Given the description of an element on the screen output the (x, y) to click on. 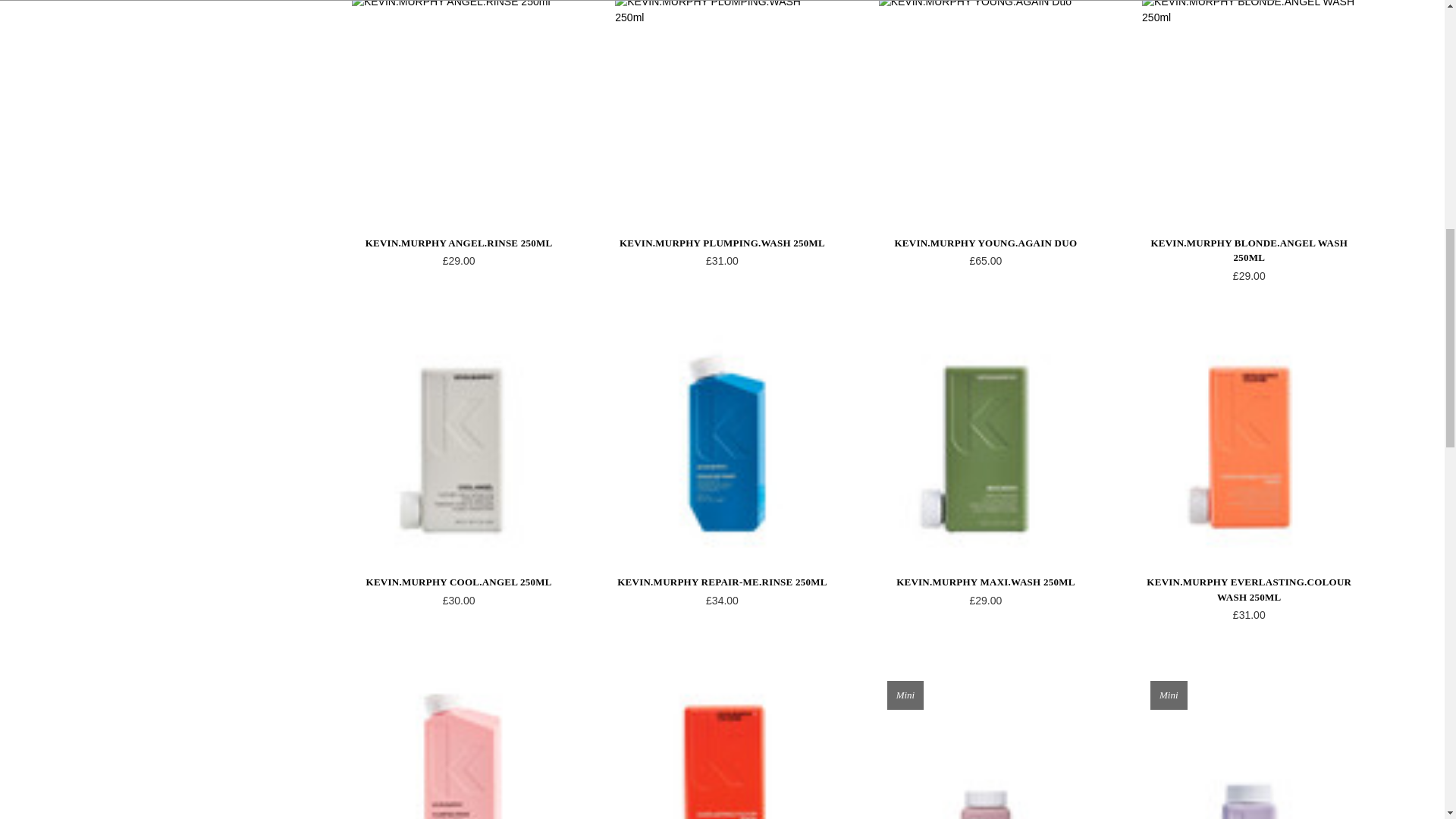
 KEVIN.MURPHY MAXI.WASH 250ml  (986, 440)
 KEVIN.MURPHY PLUMPING.WASH 250ml  (721, 104)
 KEVIN.MURPHY BLONDE.ANGEL WASH 250ml  (1248, 104)
 KEVIN.MURPHY BLONDE.ANGEL WASH 40ml  (1248, 745)
 KEVIN.MURPHY COOL.ANGEL 250ml  (459, 440)
 KEVIN.MURPHY EVERLASTING.COLOUR RINSE 250ml  (721, 745)
 KEVIN.MURPHY PLUMPING.RINSE 250ml  (459, 745)
 KEVIN.MURPHY EVERLASTING.COLOUR WASH 250ml  (1248, 440)
 KEVIN.MURPHY ANGEL.RINSE 40ml  (986, 745)
 KEVIN.MURPHY ANGEL.RINSE 250ml  (459, 104)
